Given the description of an element on the screen output the (x, y) to click on. 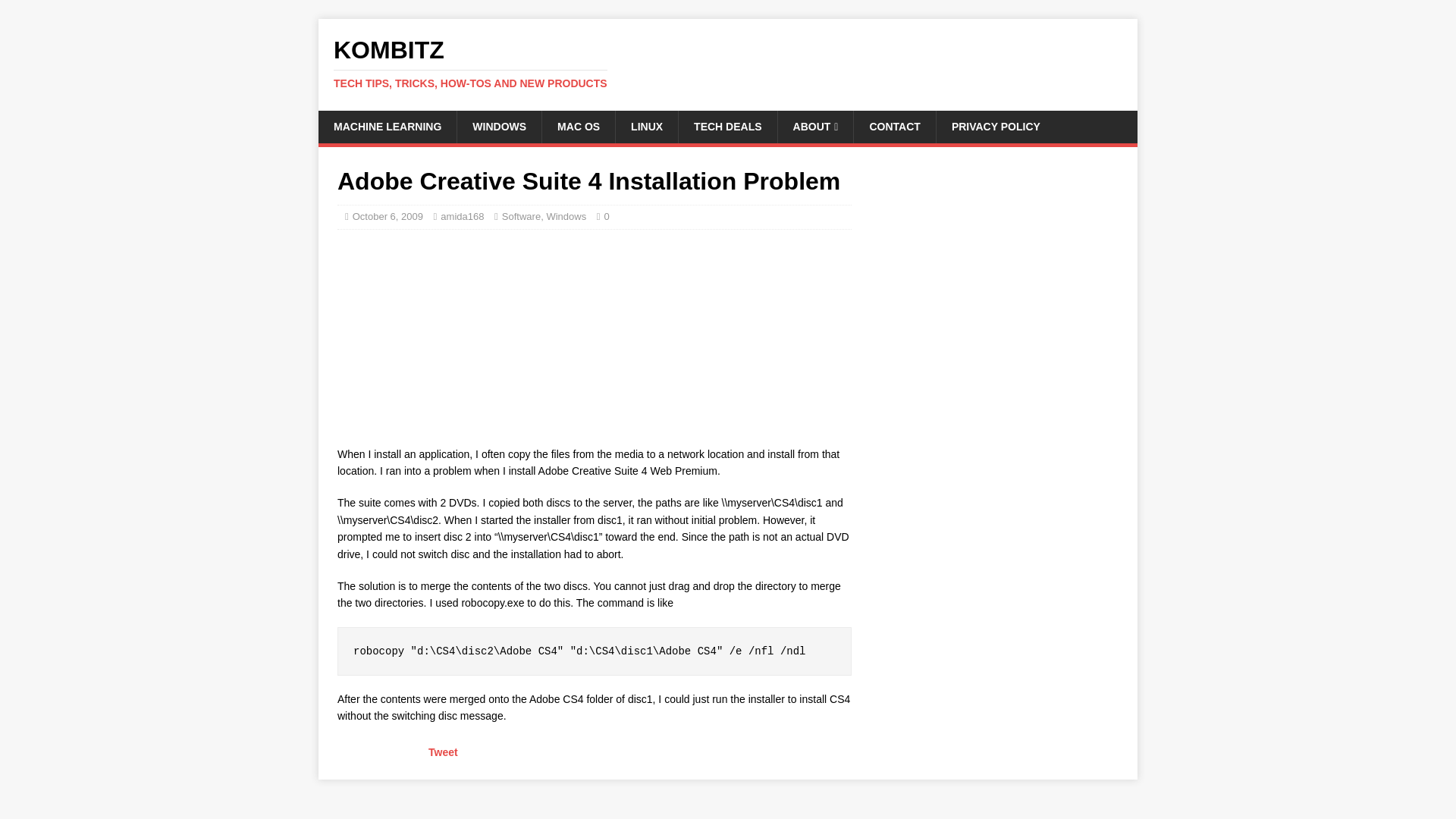
October 6, 2009 (387, 215)
PRIVACY POLICY (995, 126)
MACHINE LEARNING (387, 126)
LINUX (646, 126)
ABOUT (815, 126)
CONTACT (893, 126)
Software (521, 215)
amida168 (462, 215)
TECH DEALS (727, 126)
Tweet (443, 752)
kombitz (727, 63)
WINDOWS (727, 63)
MAC OS (499, 126)
Windows (577, 126)
